Given the description of an element on the screen output the (x, y) to click on. 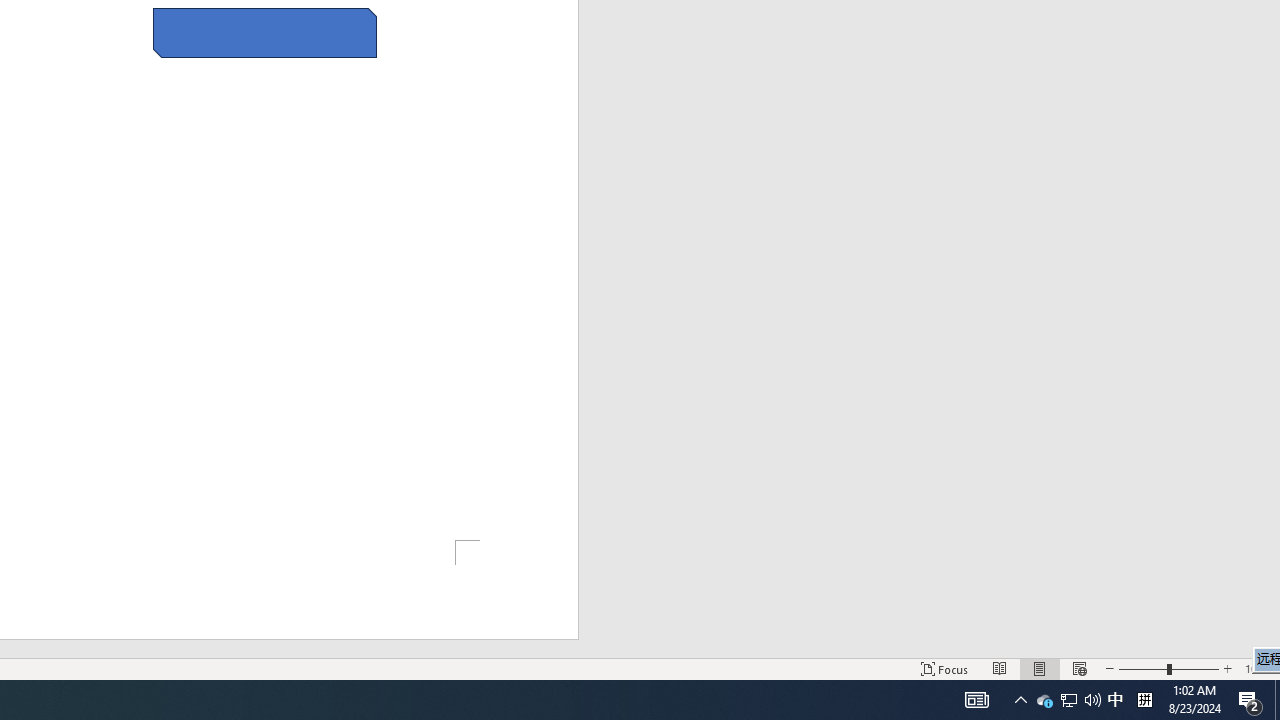
Zoom 104% (1258, 668)
Rectangle: Diagonal Corners Snipped 2 (265, 32)
Zoom (1168, 668)
